Given the description of an element on the screen output the (x, y) to click on. 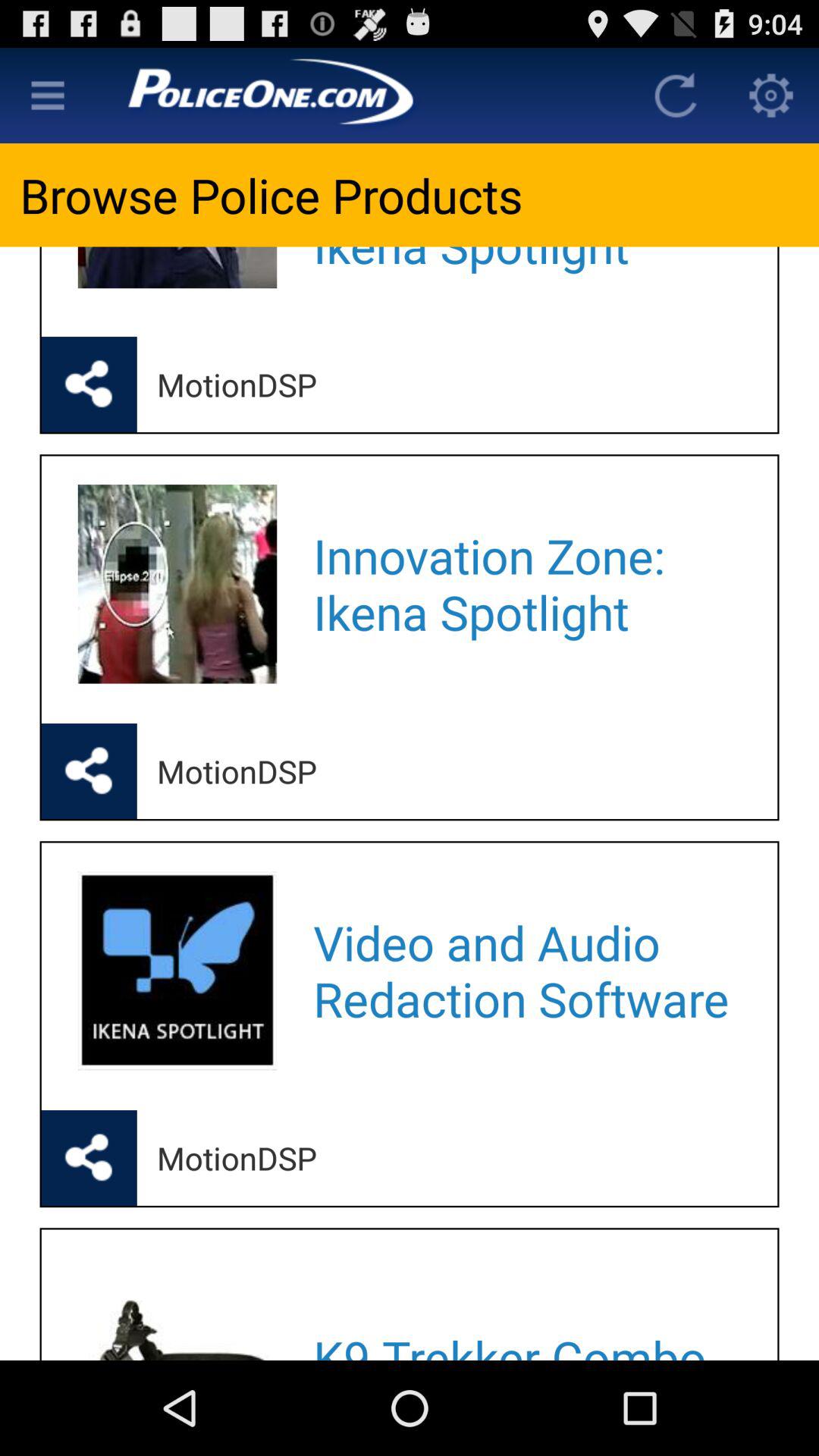
go to share (89, 1157)
